Given the description of an element on the screen output the (x, y) to click on. 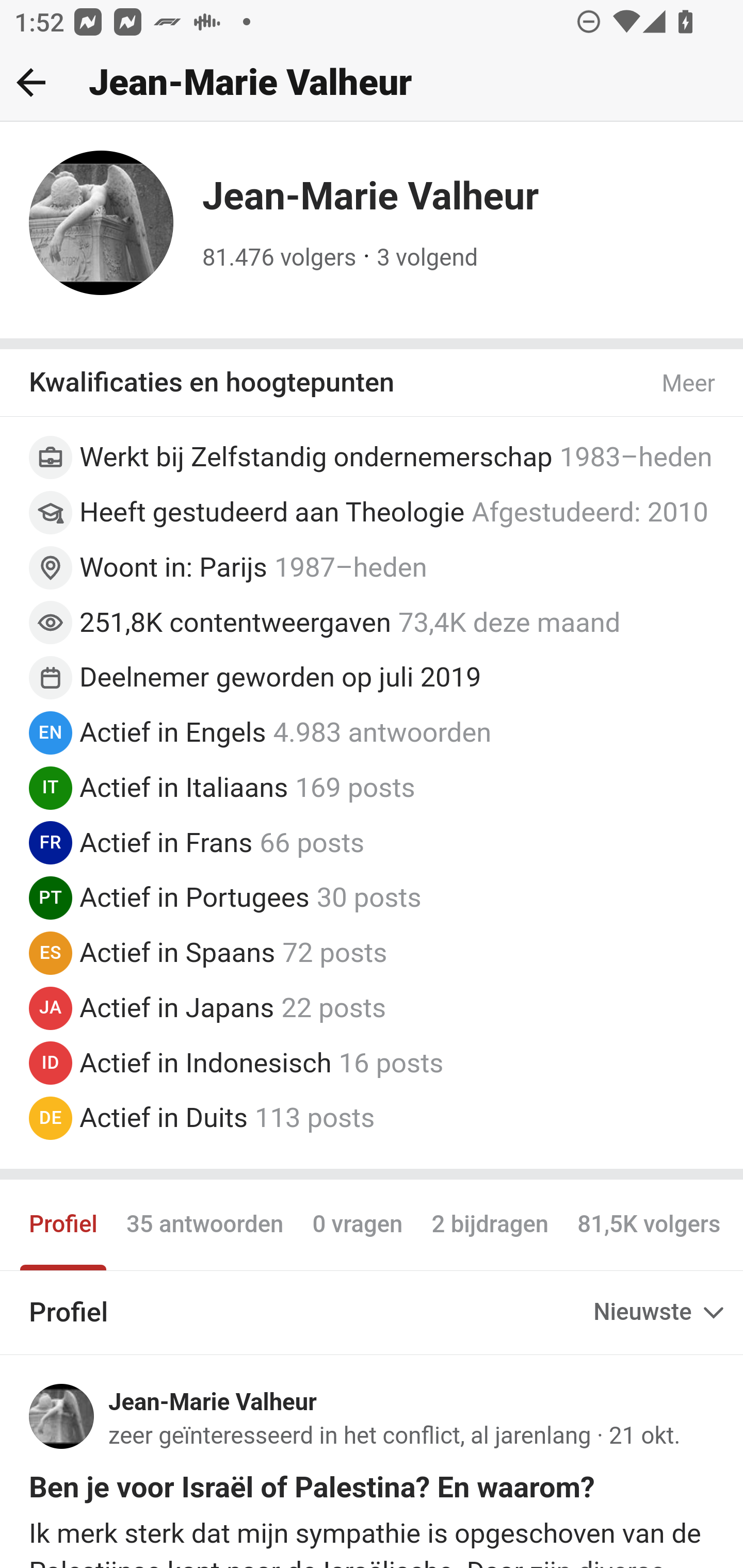
Back (30, 82)
81.476 volgers (279, 257)
3 volgend (426, 257)
Meer (688, 383)
Actief in Engels Actief in  Engels (173, 732)
Actief in Italiaans Actief in  Italiaans (184, 786)
Actief in Frans Actief in  Frans (165, 842)
Actief in Portugees Actief in  Portugees (194, 896)
Actief in Spaans Actief in  Spaans (177, 953)
Actief in Japans Actief in  Japans (176, 1006)
Actief in Indonesisch Actief in  Indonesisch (205, 1062)
Actief in Duits Actief in  Duits (163, 1116)
Profiel (63, 1225)
35 antwoorden (204, 1225)
0 vragen (357, 1225)
2 bijdragen (489, 1225)
81,5K volgers (649, 1225)
Nieuwste (660, 1312)
Profielfoto voor Jean-Marie Valheur (61, 1416)
Jean-Marie Valheur (213, 1402)
